Given the description of an element on the screen output the (x, y) to click on. 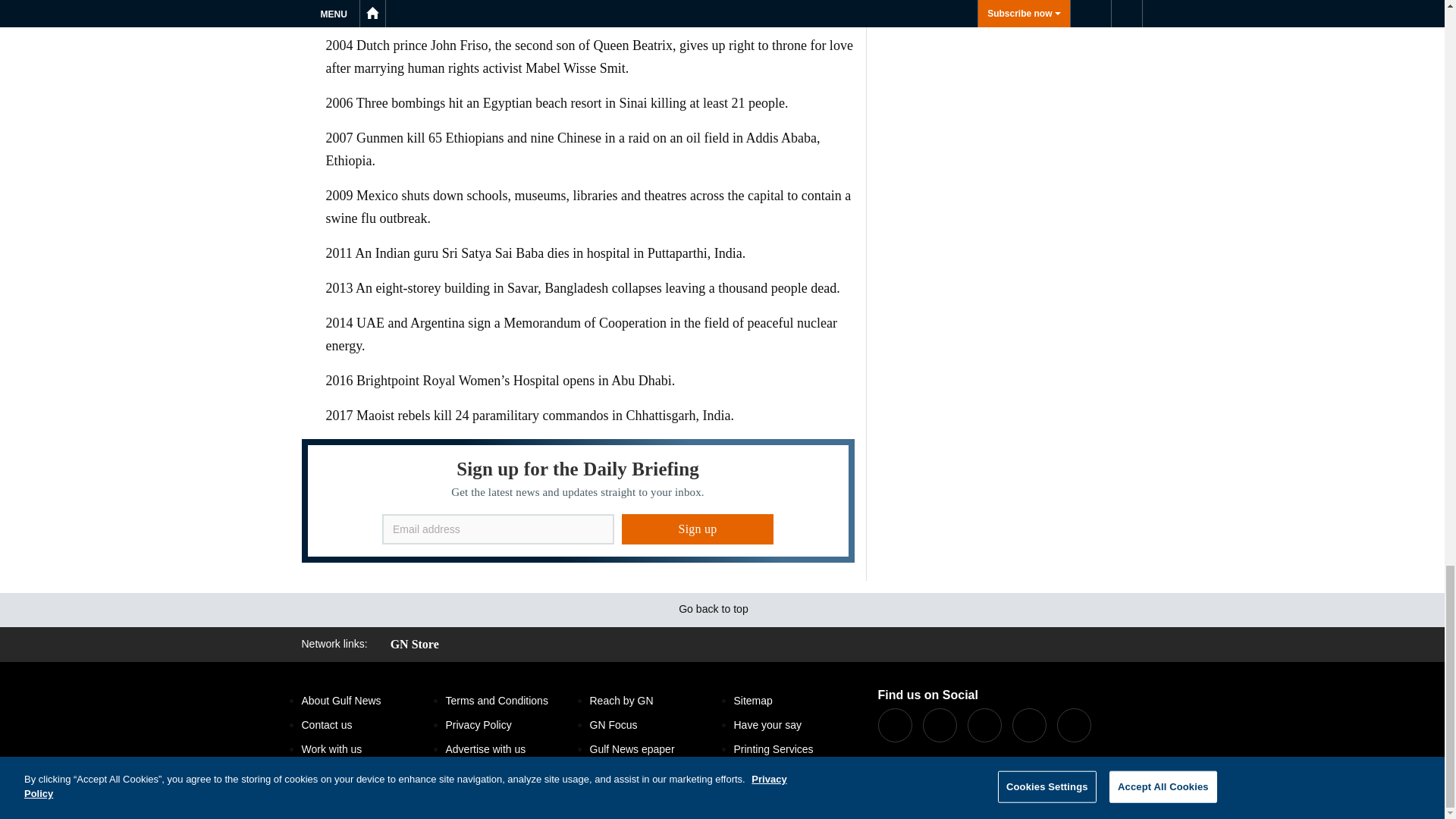
Sign up for the Daily Briefing (577, 500)
